Given the description of an element on the screen output the (x, y) to click on. 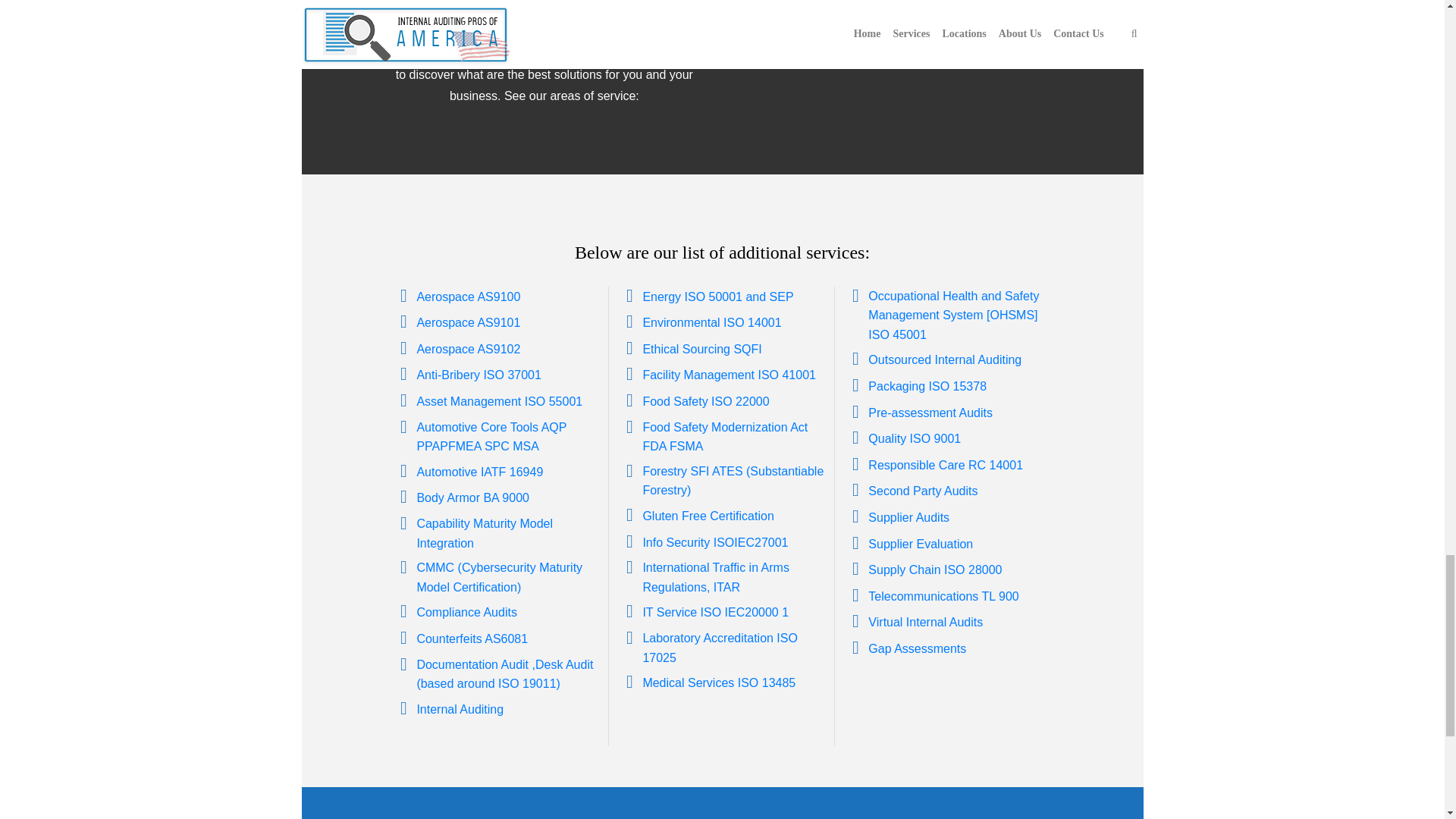
Ethical Sourcing SQFI (701, 349)
Automotive Core Tools AQP PPAPFMEA SPC MSA (491, 436)
Aerospace AS9101 (467, 322)
Environmental ISO 14001 (711, 322)
Automotive IATF 16949 (479, 472)
Midwest City (778, 8)
Aerospace AS9102 (467, 349)
Aerospace AS9100 (467, 296)
Tulsa (928, 8)
Energy ISO 50001 and SEP (717, 296)
